Given the description of an element on the screen output the (x, y) to click on. 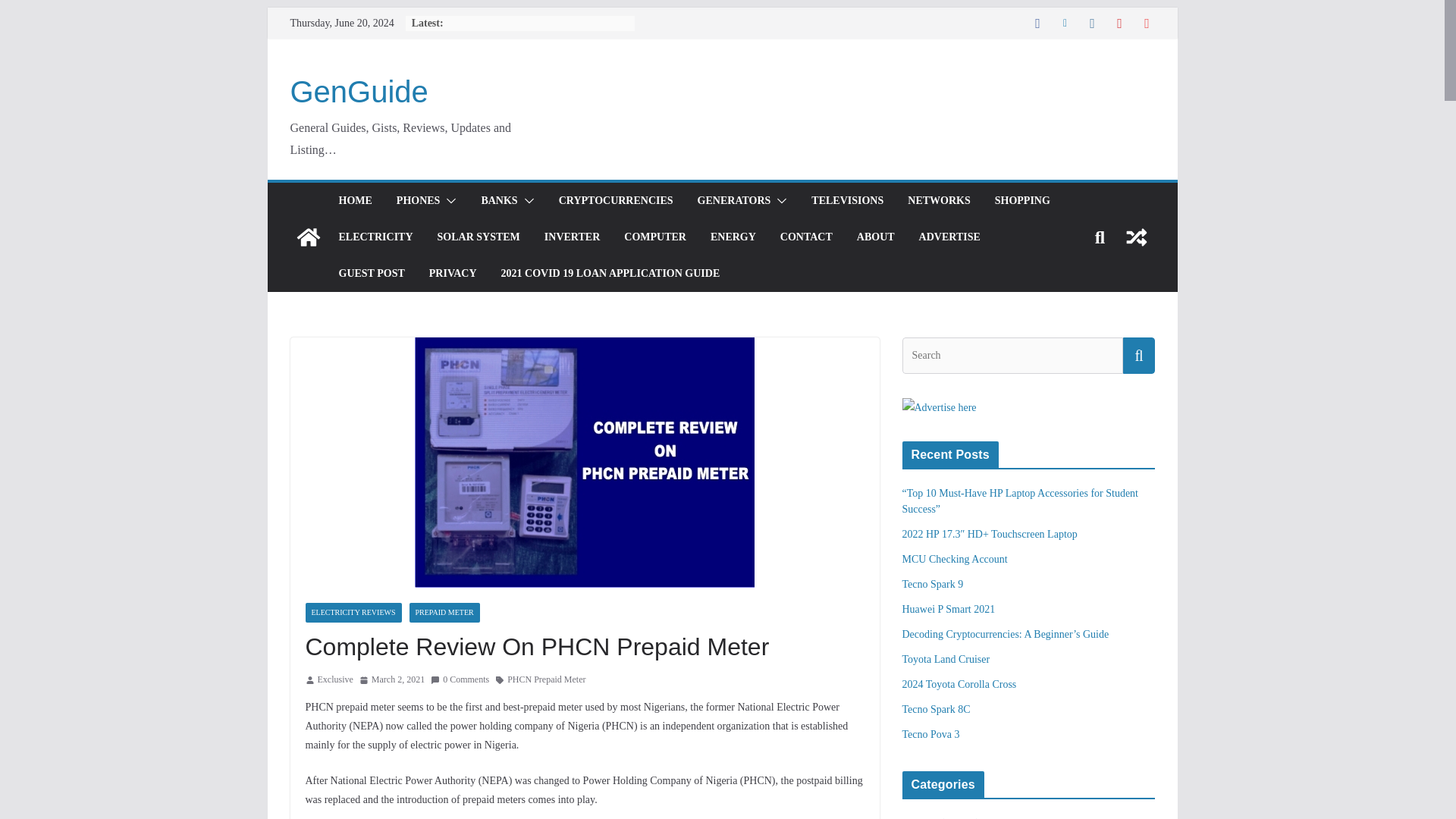
Exclusive (334, 679)
PHONES (418, 200)
5:40 pm (392, 679)
GenGuide (307, 237)
BANKS (498, 200)
GenGuide (358, 91)
GenGuide (358, 91)
GENERATORS (734, 200)
CRYPTOCURRENCIES (615, 200)
